Given the description of an element on the screen output the (x, y) to click on. 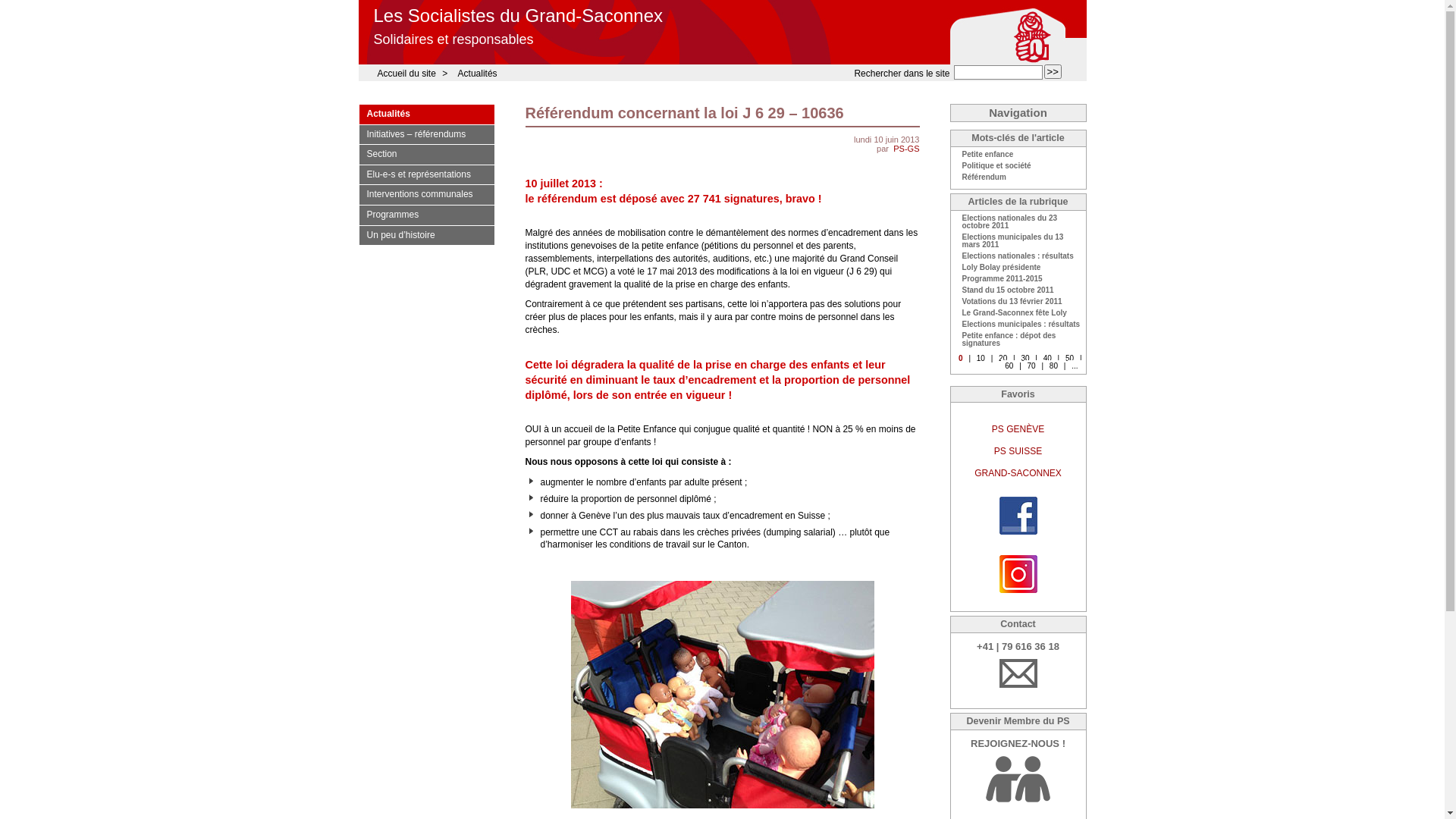
GRAND-SACONNEX Element type: text (1017, 473)
Les Socialistes du Grand-Saconnex Element type: text (517, 16)
>> Element type: text (1051, 71)
Programme 2011-2015 Element type: text (1017, 279)
GIF - 1 ko Element type: hover (1018, 684)
JPEG - 2 ko Element type: hover (1018, 531)
30 Element type: text (1024, 356)
Stand du 15 octobre 2011 Element type: text (1017, 292)
20 Element type: text (1002, 356)
PS SUISSE Element type: text (1017, 451)
PNG - 3.7 ko Element type: hover (1018, 590)
70 Element type: text (1031, 364)
60 Element type: text (1008, 364)
Rechercher Element type: hover (1051, 71)
10 Element type: text (980, 356)
40 Element type: text (1047, 356)
Programmes Element type: text (425, 215)
50 Element type: text (1069, 356)
PNG - 2.5 ko Element type: hover (1017, 799)
Accueil du site Element type: text (404, 73)
80 Element type: text (1053, 364)
Petite enfance Element type: text (1017, 156)
PS-GS Element type: text (906, 148)
Elections municipales du 13 mars 2011 Element type: text (1017, 242)
Elections nationales du 23 octobre 2011 Element type: text (1017, 222)
... Element type: text (1074, 364)
Section Element type: text (425, 154)
Interventions communales Element type: text (425, 195)
